Given the description of an element on the screen output the (x, y) to click on. 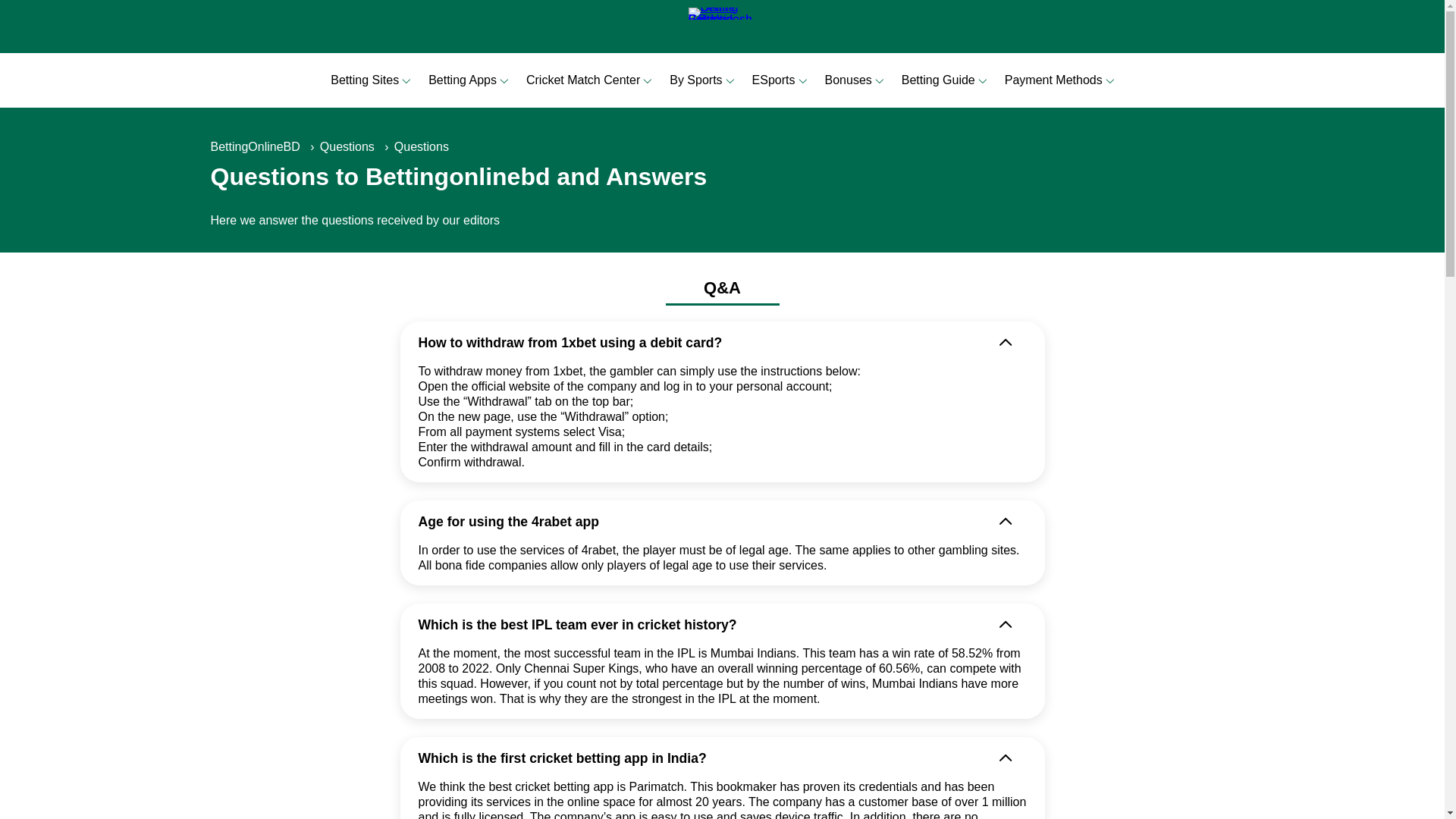
Betting Sites (364, 79)
Main page (722, 26)
